Given the description of an element on the screen output the (x, y) to click on. 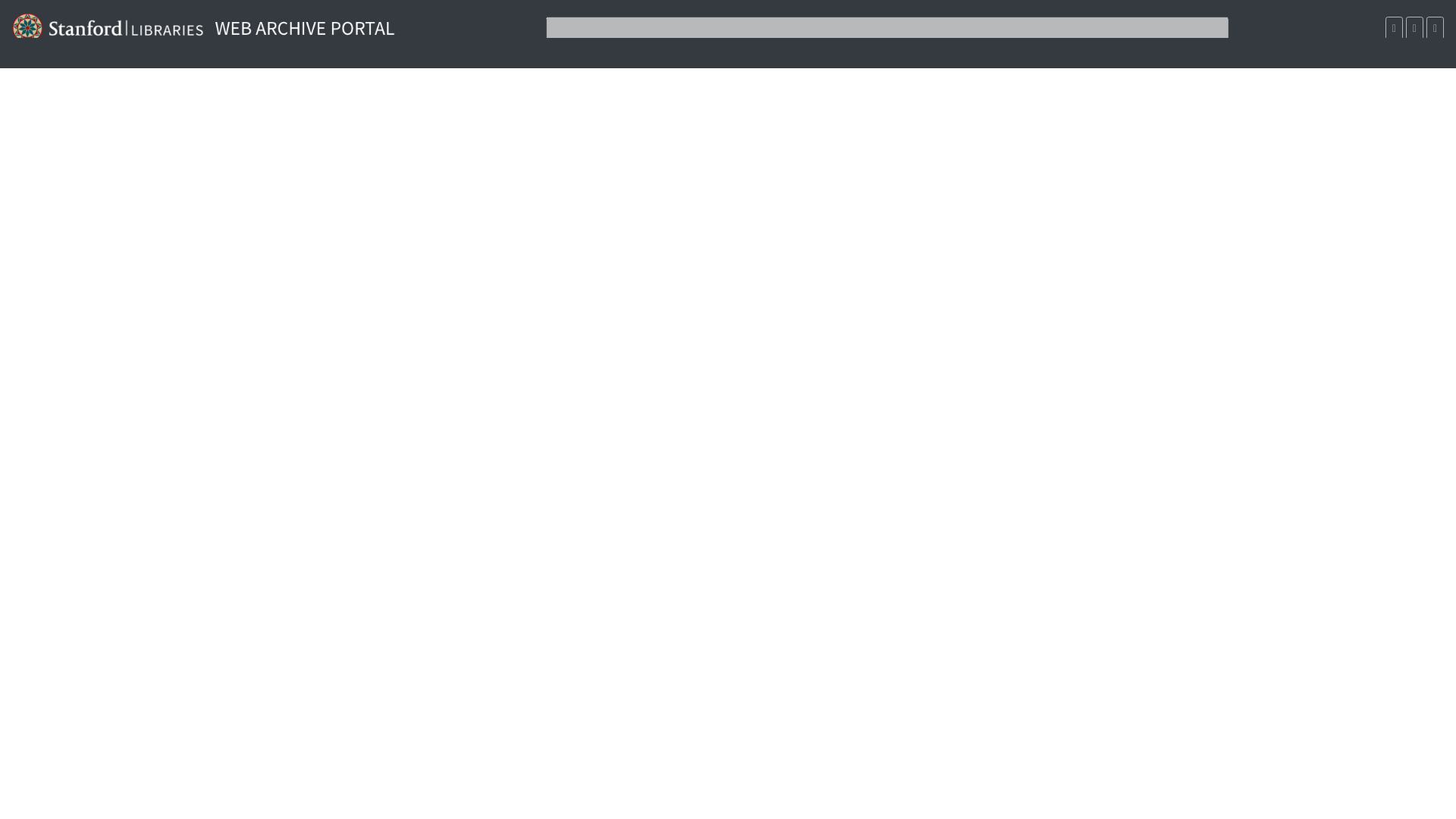
Show calendar (1394, 28)
Show timeline (1414, 28)
Print (1435, 28)
